Given the description of an element on the screen output the (x, y) to click on. 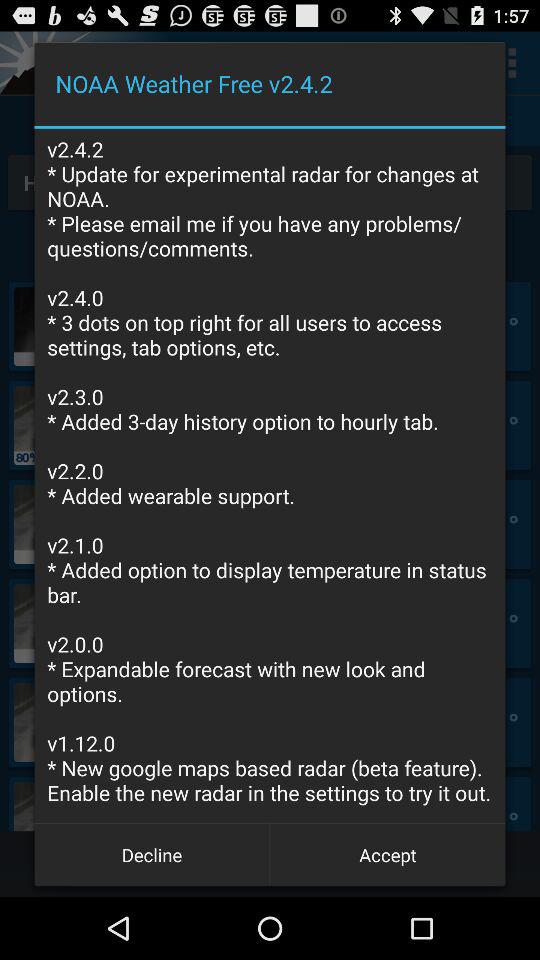
open the button at the bottom right corner (387, 854)
